Given the description of an element on the screen output the (x, y) to click on. 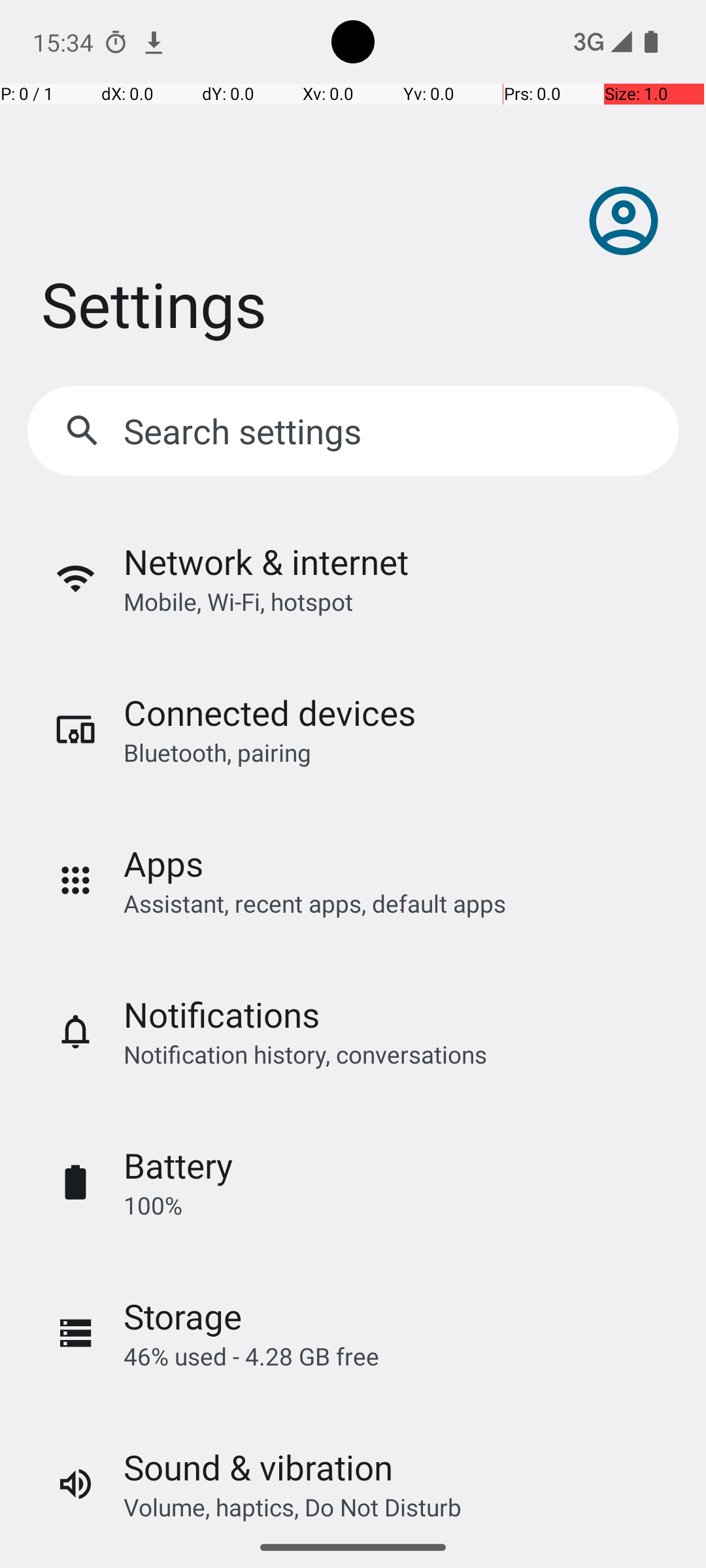
46% used - 4.28 GB free Element type: android.widget.TextView (251, 1355)
